Given the description of an element on the screen output the (x, y) to click on. 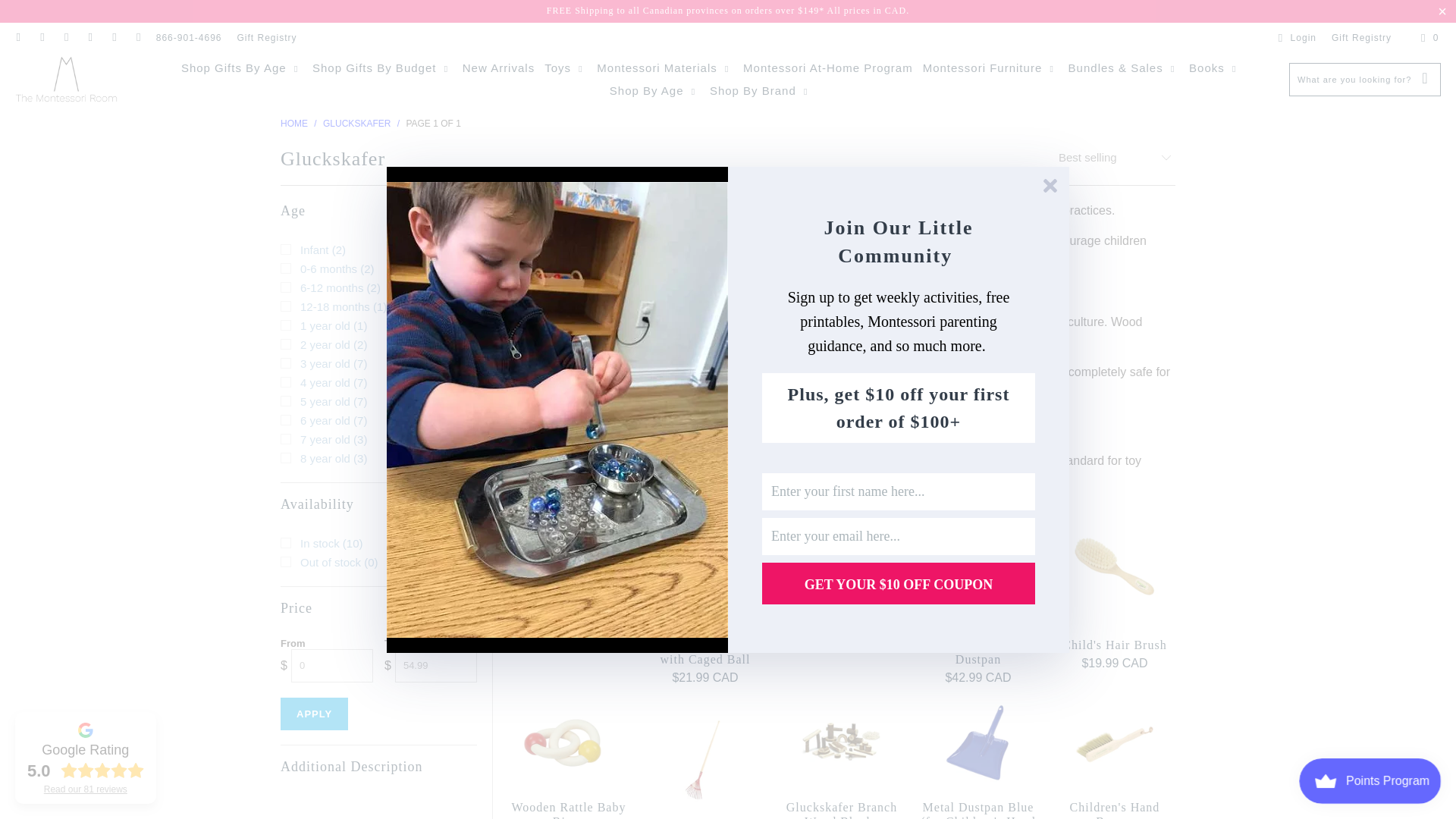
The Montessori Room on Facebook (41, 37)
The Montessori Room on YouTube (138, 37)
Gluckskafer (356, 122)
The Montessori Room on TikTok (113, 37)
The Montessori Room on Pinterest (89, 37)
Shipping Options (727, 9)
Email The Montessori Room (17, 37)
Apply (314, 714)
The Montessori Room (65, 80)
My Account  (1294, 37)
The Montessori Room (294, 122)
The Montessori Room on Instagram (65, 37)
